Given the description of an element on the screen output the (x, y) to click on. 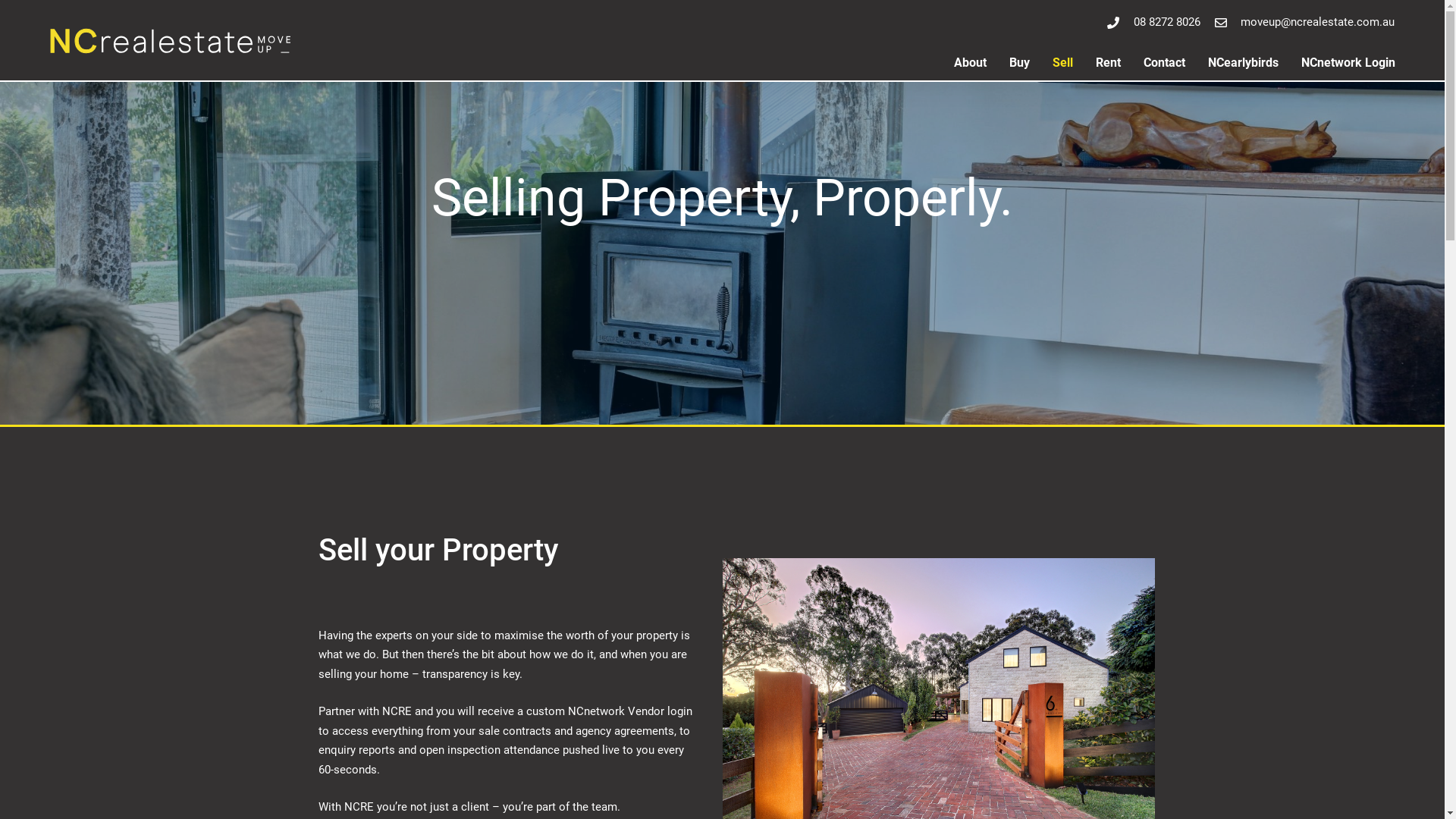
Sell Element type: text (1062, 62)
About Element type: text (969, 62)
08 8272 8026 Element type: text (1152, 22)
Contact Element type: text (1164, 62)
NCearlybirds Element type: text (1242, 62)
Buy Element type: text (1019, 62)
Rent Element type: text (1108, 62)
NCnetwork Login Element type: text (1347, 62)
moveup@ncrealestate.com.au Element type: text (1302, 22)
NCRE_Logo_WebHeader_320 Element type: hover (170, 40)
